Given the description of an element on the screen output the (x, y) to click on. 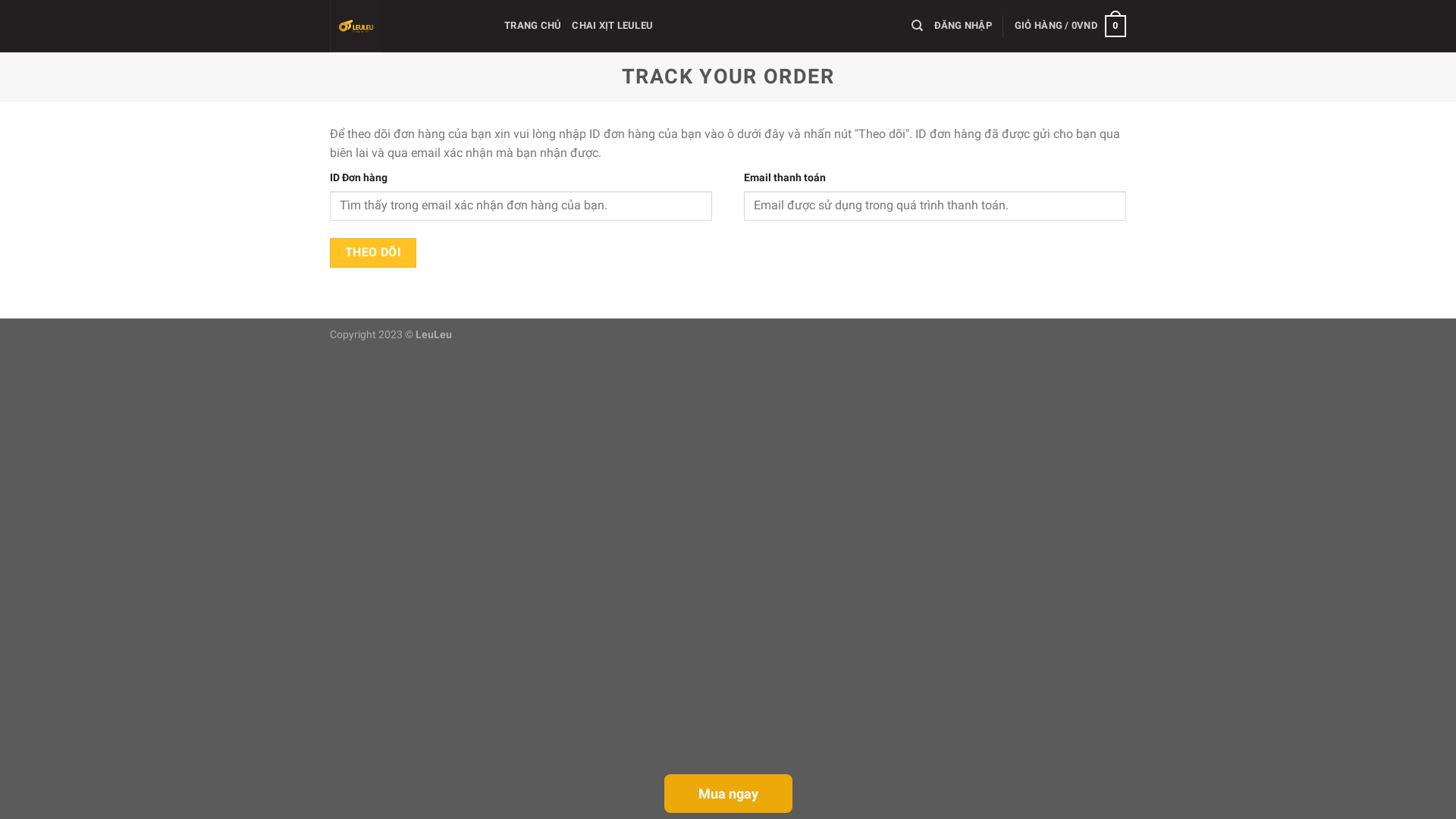
Mua ngay Element type: text (728, 793)
